Given the description of an element on the screen output the (x, y) to click on. 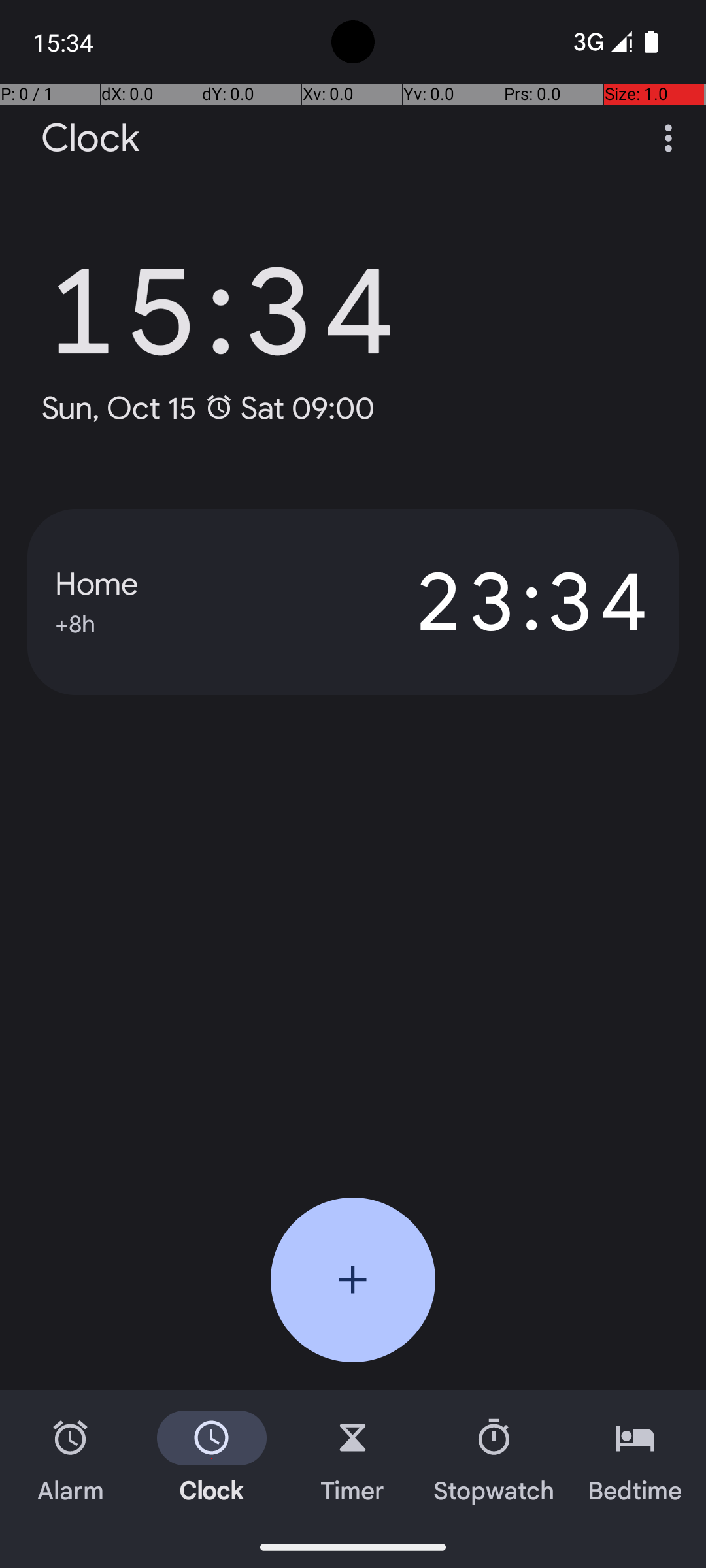
Sun, Oct 15 A Sat 09:00 Element type: android.widget.TextView (207, 407)
+8h Element type: android.widget.TextView (74, 621)
23:34 Element type: android.widget.TextView (502, 601)
